Given the description of an element on the screen output the (x, y) to click on. 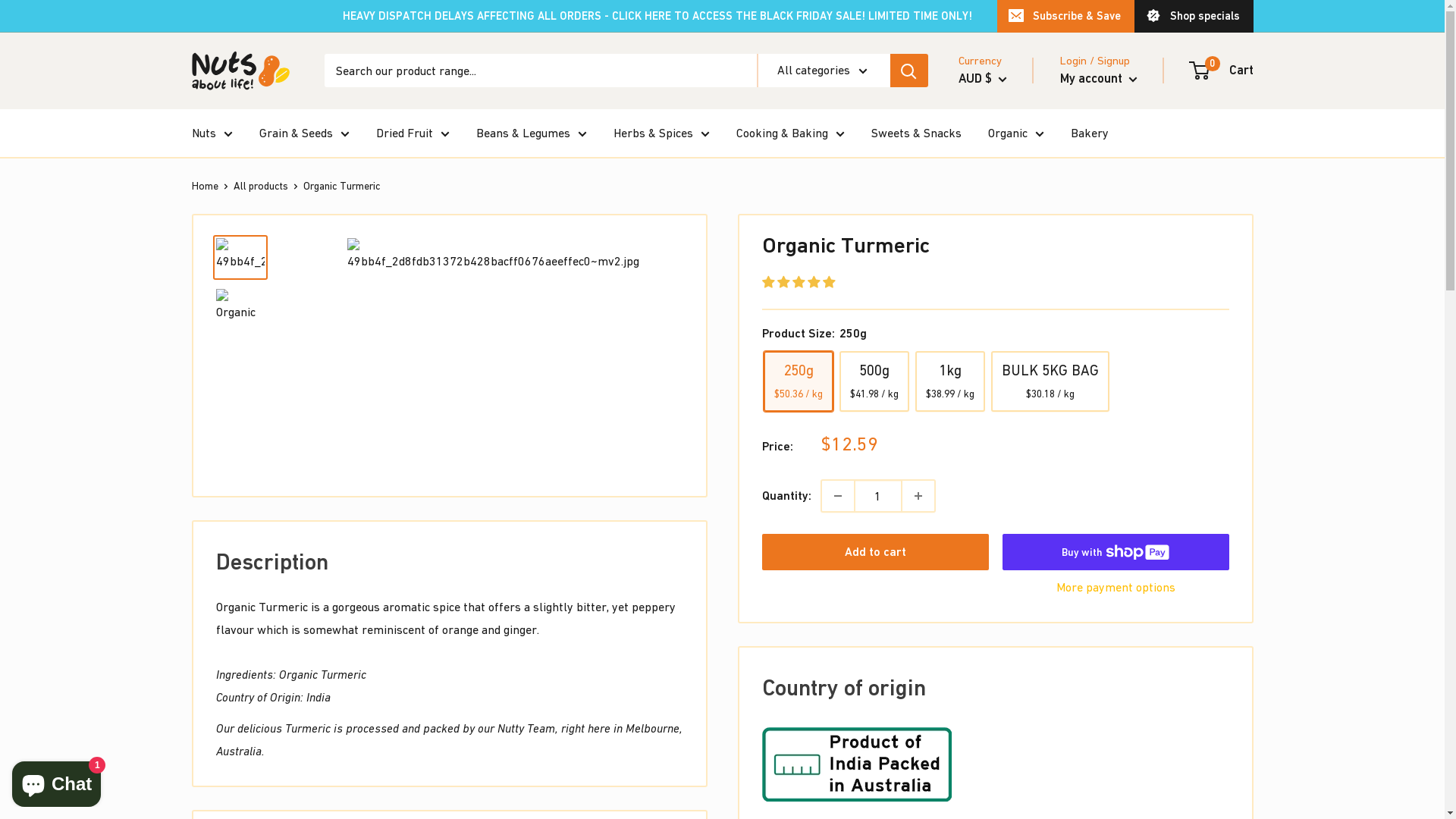
Add to cart Element type: text (874, 551)
More payment options Element type: text (1115, 587)
Organic Element type: text (1015, 133)
0
Cart Element type: text (1221, 70)
NZD Element type: text (994, 143)
Dried Fruit Element type: text (412, 133)
Nuts Element type: text (211, 133)
Herbs & Spices Element type: text (660, 133)
Shop specials Element type: text (1193, 15)
AUD $ Element type: text (982, 78)
My account Element type: text (1098, 78)
Increase quantity by 1 Element type: hover (918, 495)
Grain & Seeds Element type: text (304, 133)
All products Element type: text (260, 185)
Bakery Element type: text (1089, 133)
Home Element type: text (204, 185)
Sweets & Snacks Element type: text (915, 133)
Beans & Legumes Element type: text (531, 133)
Subscribe & Save Element type: text (1064, 15)
Shopify online store chat Element type: hover (56, 780)
Cooking & Baking Element type: text (789, 133)
AUD Element type: text (994, 120)
Decrease quantity by 1 Element type: hover (837, 495)
Nuts About Life  Element type: hover (242, 70)
